Given the description of an element on the screen output the (x, y) to click on. 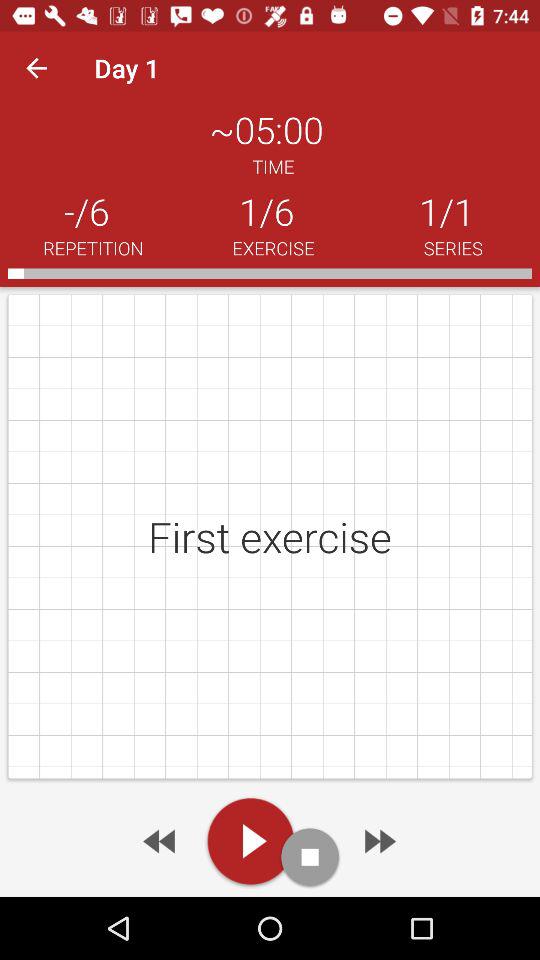
start recording (309, 856)
